Given the description of an element on the screen output the (x, y) to click on. 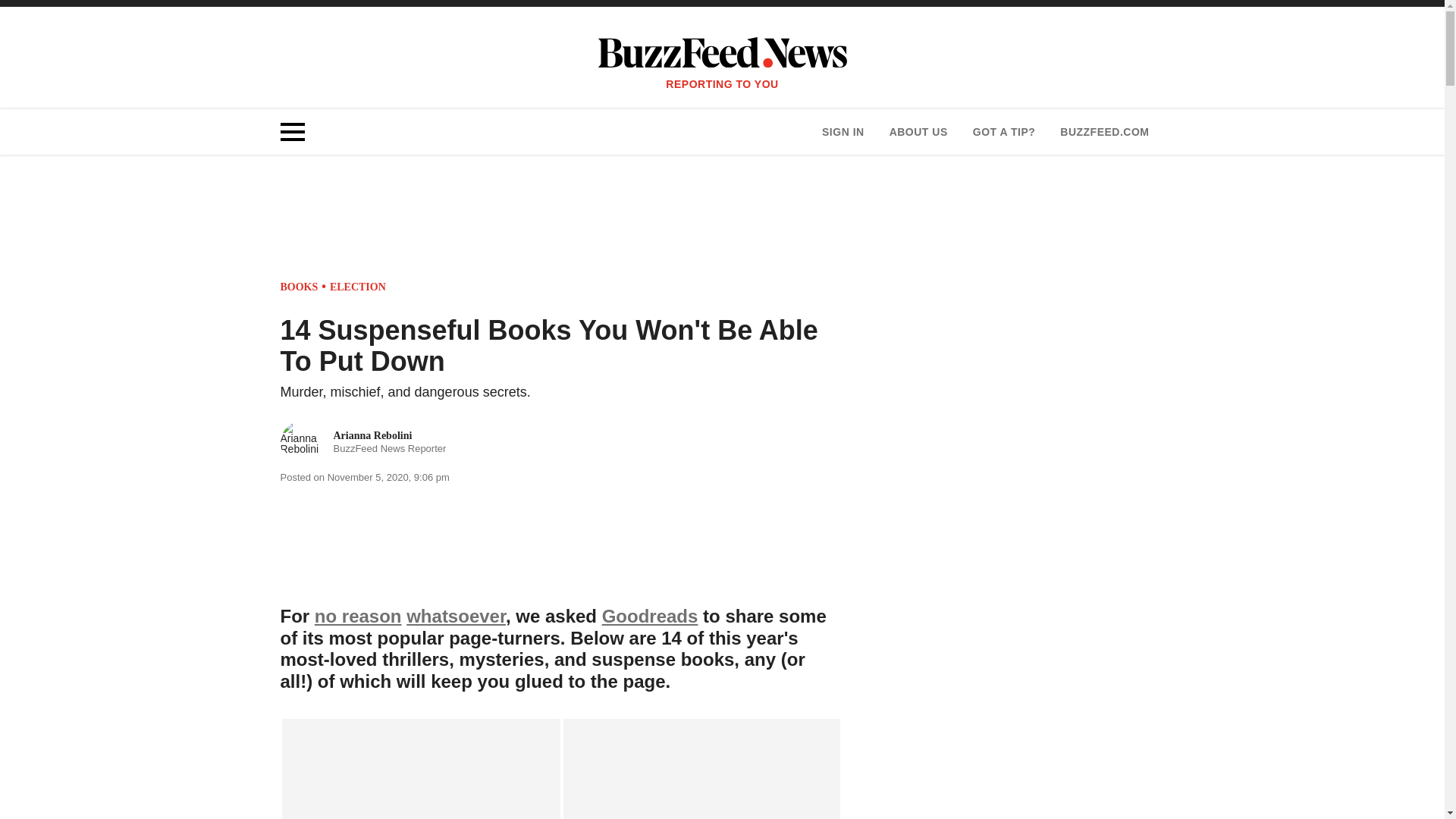
BUZZFEED.COM (1103, 131)
Goodreads (650, 616)
GOT A TIP? (1003, 131)
no reason (357, 616)
SIGN IN (842, 131)
BOOKS (299, 286)
ABOUT US (917, 131)
ELECTION (363, 442)
whatsoever (357, 286)
